Given the description of an element on the screen output the (x, y) to click on. 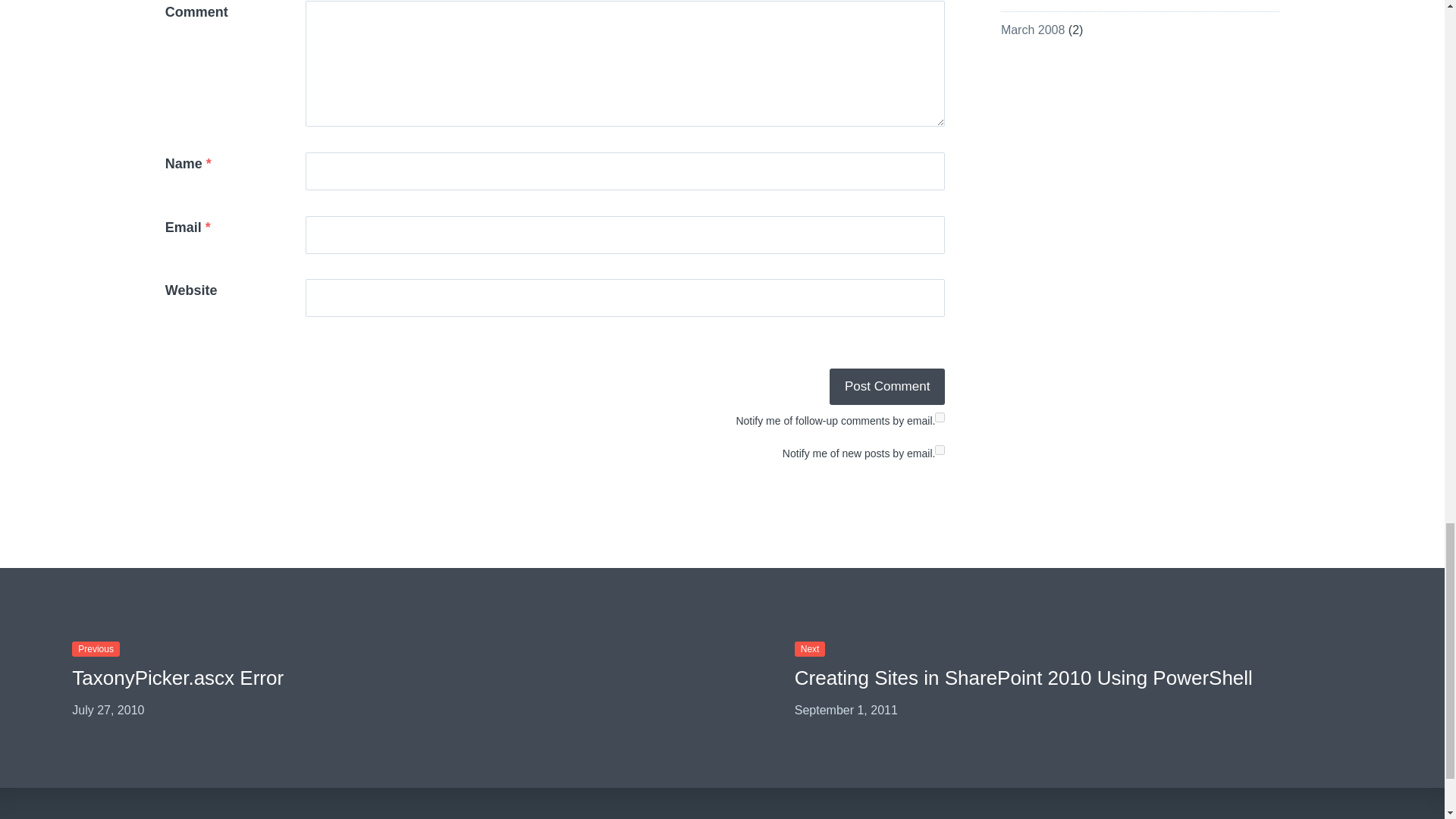
subscribe (939, 450)
Post Comment (886, 386)
subscribe (939, 417)
